Given the description of an element on the screen output the (x, y) to click on. 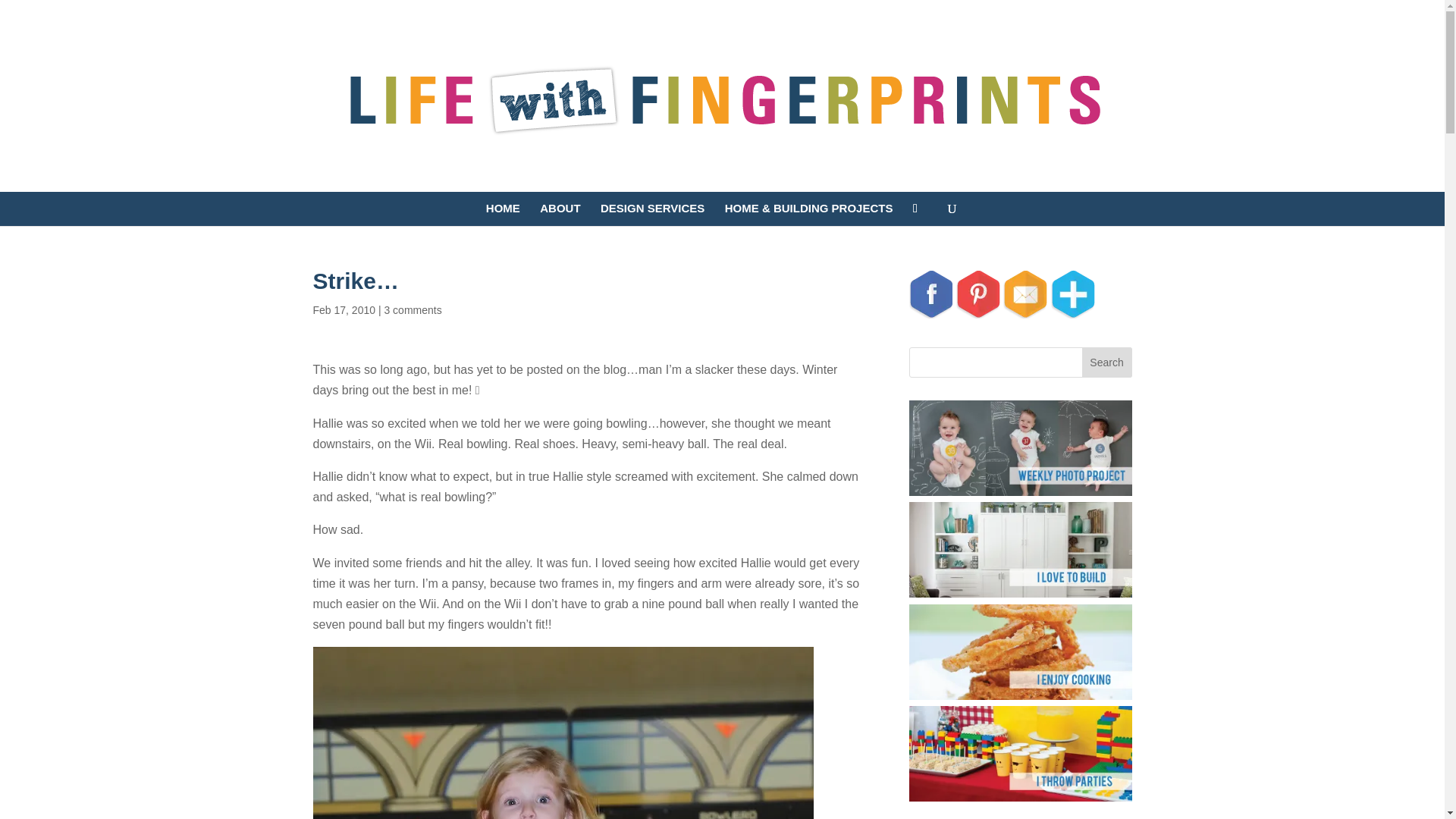
3 comments (412, 309)
HOME (502, 214)
Search (1106, 362)
DESIGN SERVICES (651, 214)
ABOUT (559, 214)
Search (1106, 362)
